Given the description of an element on the screen output the (x, y) to click on. 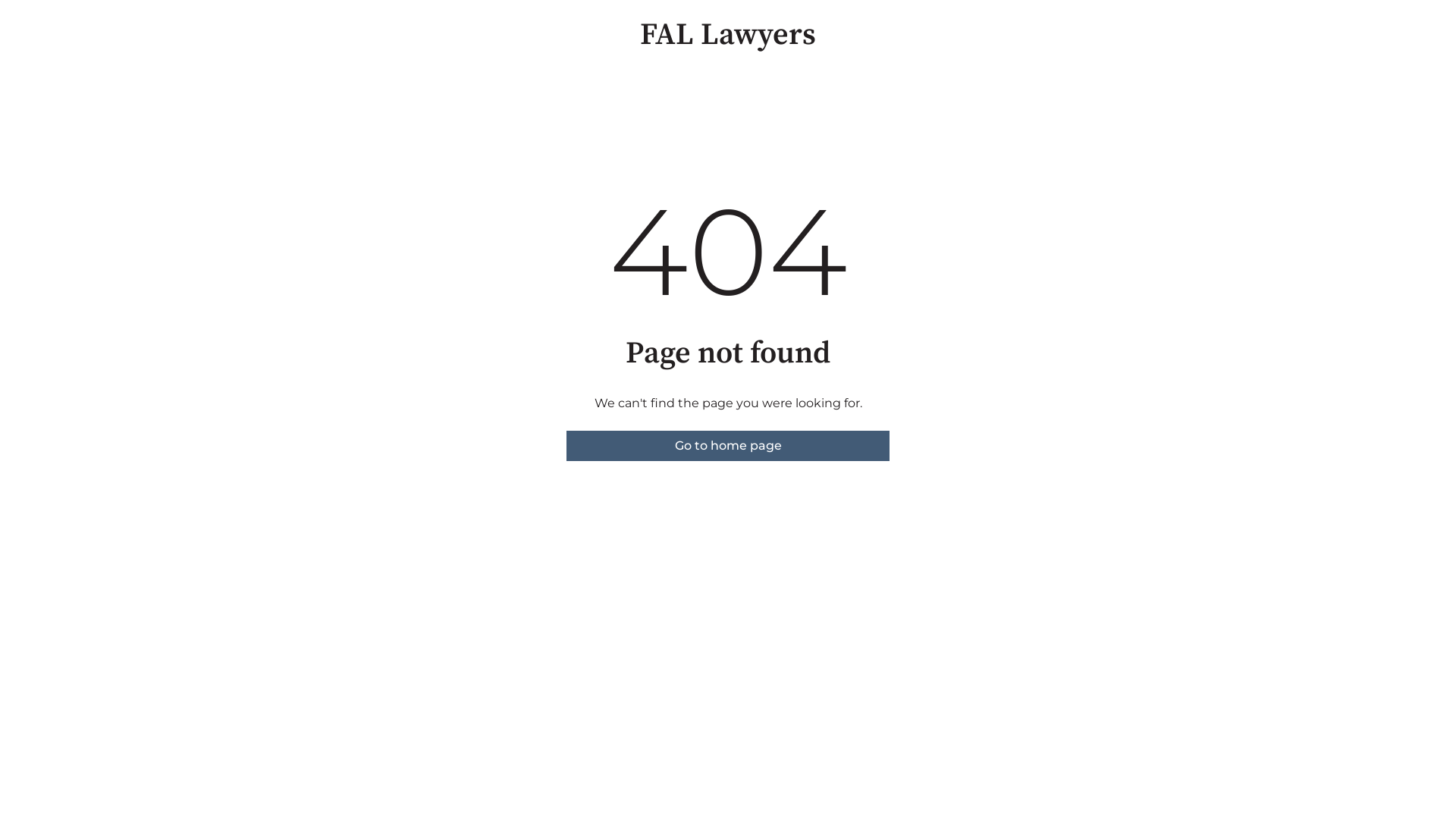
Go to home page Element type: text (727, 445)
